Given the description of an element on the screen output the (x, y) to click on. 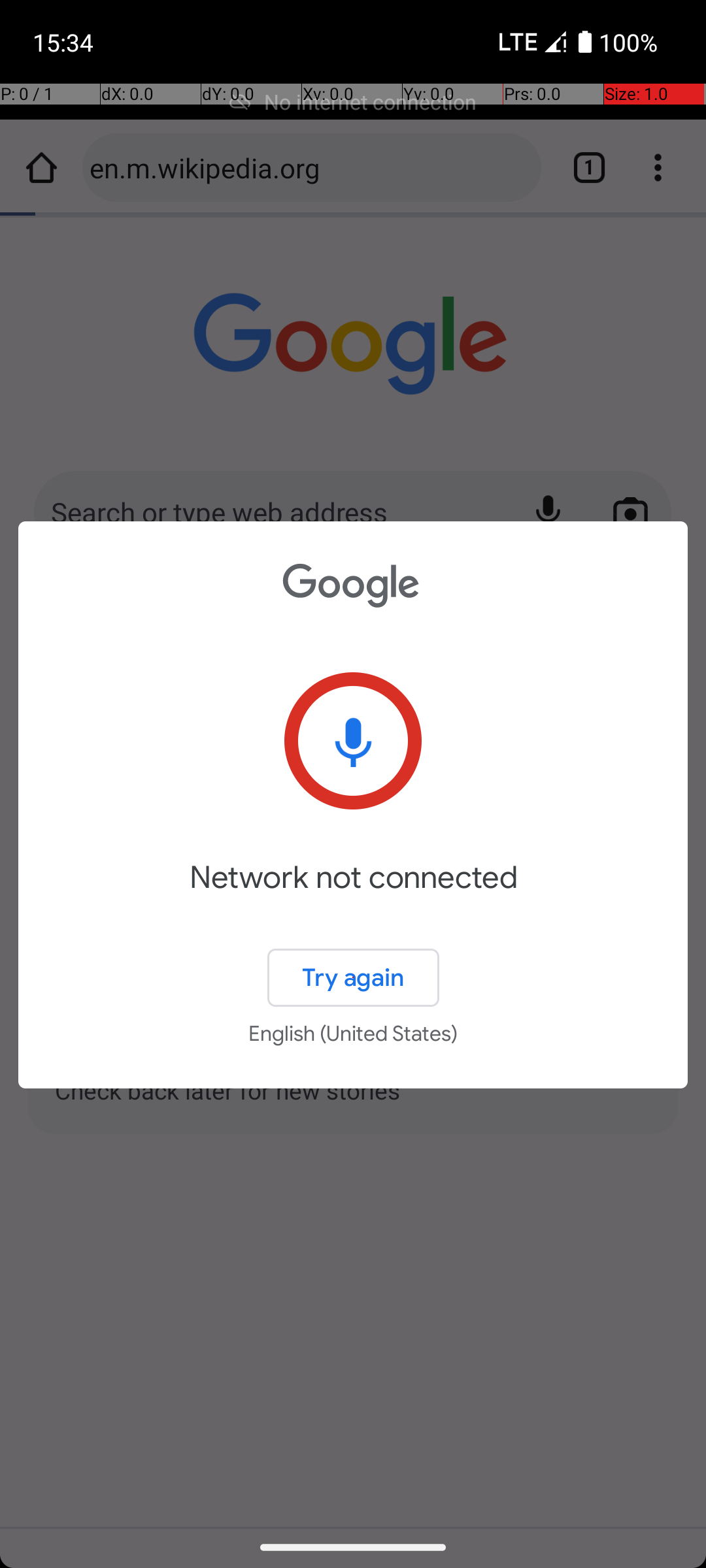
Network not connected Element type: android.widget.TextView (352, 895)
Try again Element type: android.widget.Button (353, 977)
